Given the description of an element on the screen output the (x, y) to click on. 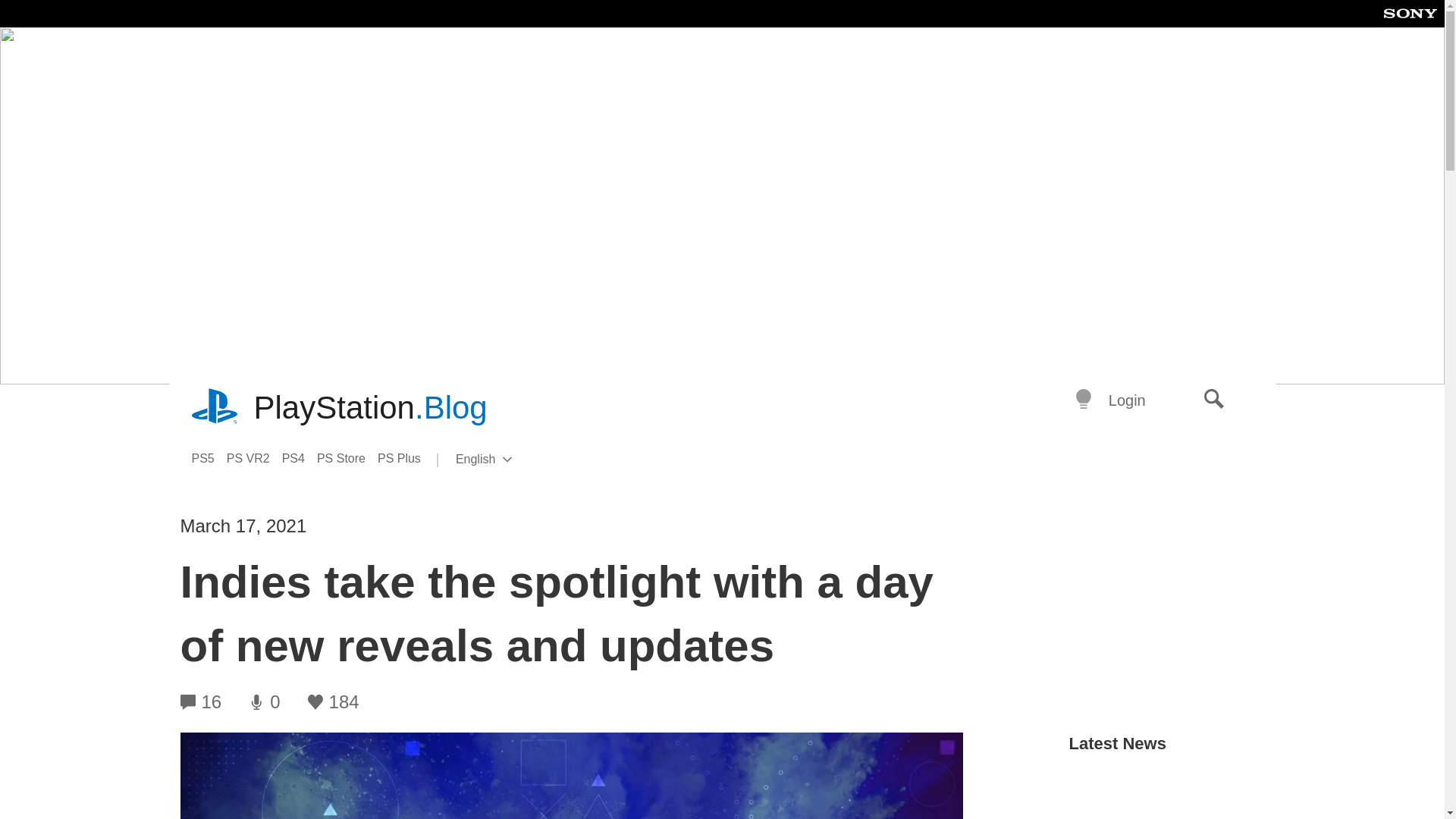
Search (1214, 400)
PS5 (207, 458)
PS Plus (404, 458)
PlayStation.Blog (369, 407)
PS VR2 (254, 458)
PS4 (299, 458)
PS Store (347, 458)
playstation.com (215, 408)
Login (1126, 400)
